Given the description of an element on the screen output the (x, y) to click on. 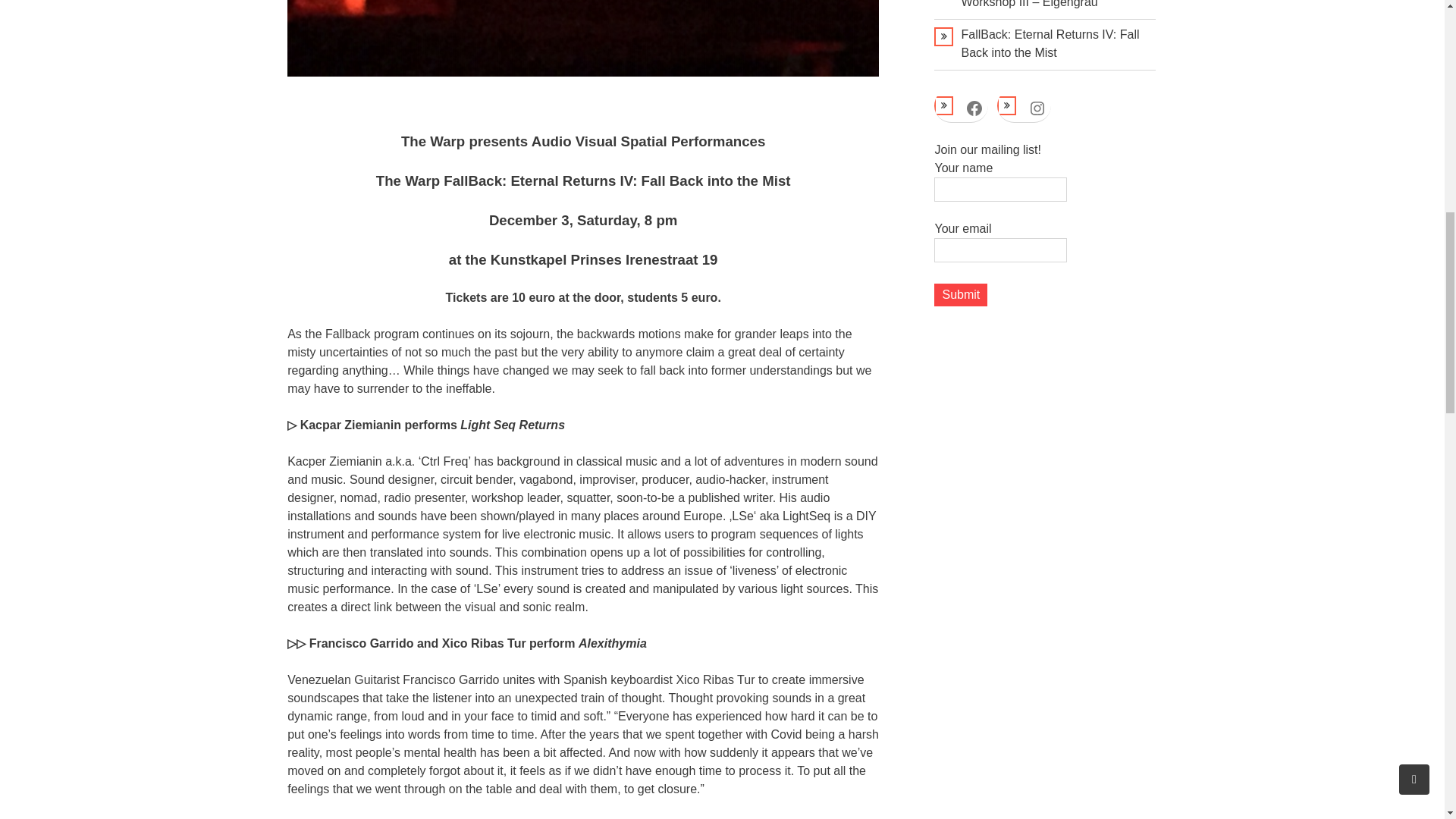
Submit (960, 294)
Instagram (1037, 108)
FallBack: Eternal Returns IV: Fall Back into the Mist (1049, 42)
Facebook (974, 108)
Submit (960, 294)
